Given the description of an element on the screen output the (x, y) to click on. 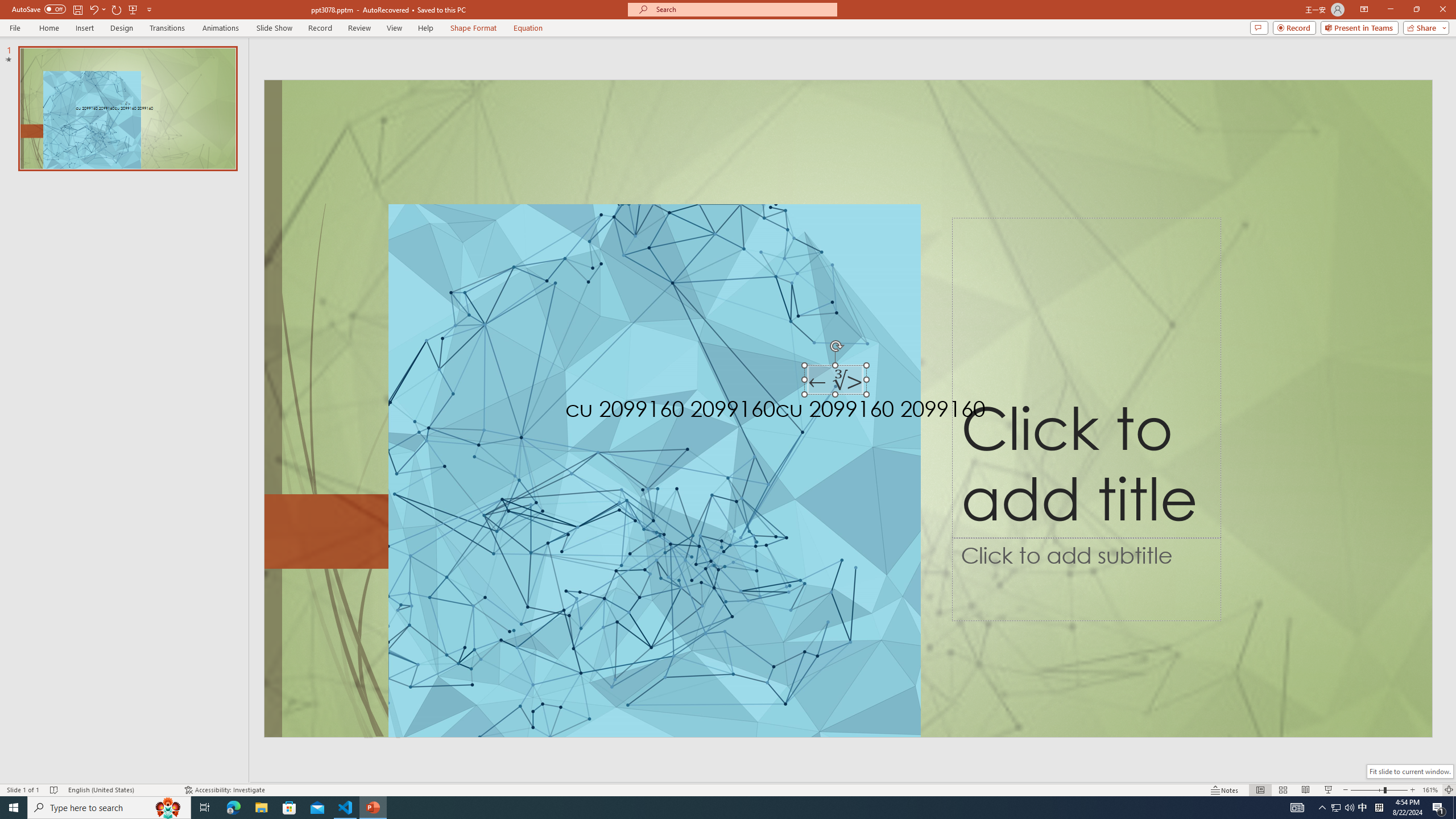
Fit slide to current window. (1410, 771)
